Given the description of an element on the screen output the (x, y) to click on. 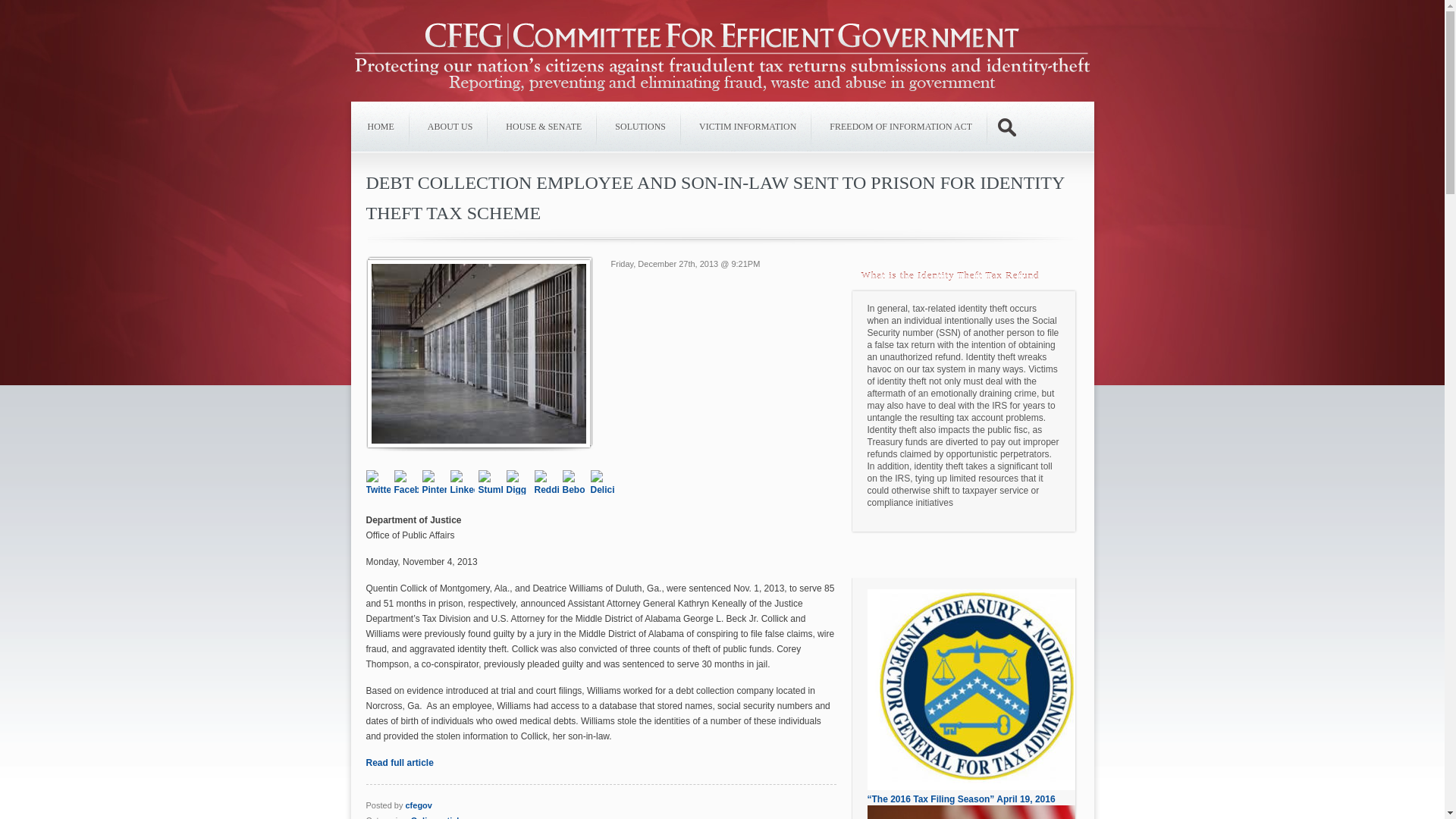
FOIA (900, 126)
Bebo (576, 480)
StumbleUpon (491, 480)
Twitter (379, 480)
ABOUT US (449, 126)
Facebook (408, 480)
Linkedin (464, 480)
CFEGOV.org: Consumers for Effective Government (721, 60)
HOME (380, 126)
Delicious (603, 480)
Pinterest (435, 480)
SOLUTIONS (640, 126)
Digg (520, 480)
Reddit (548, 480)
